Given the description of an element on the screen output the (x, y) to click on. 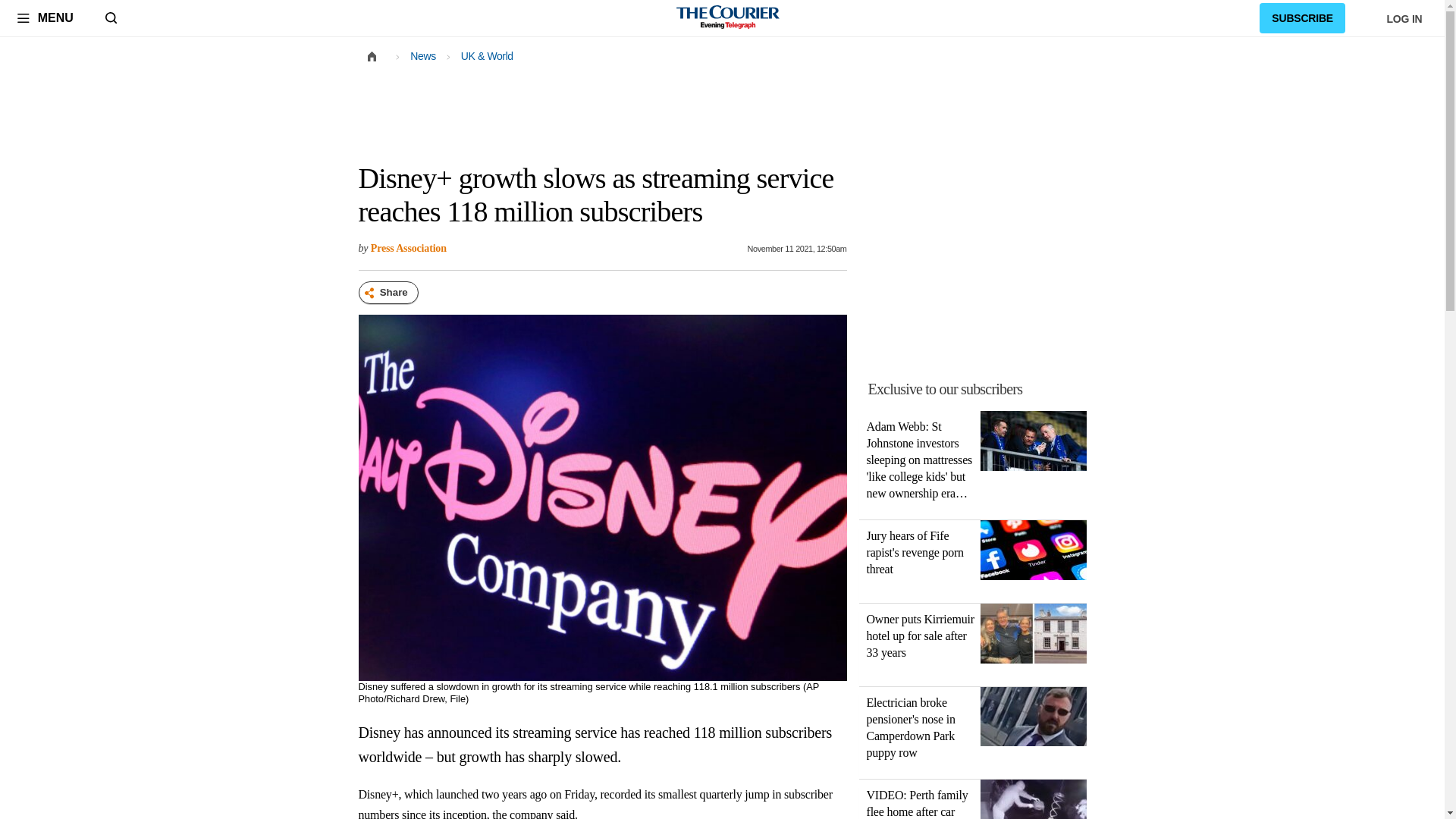
Exclusive to our subscribers (981, 388)
Jury hears of Fife rapist's revenge porn threat (1032, 553)
VIDEO: Perth family flee home after car torched in driveway (1032, 799)
Jury hears of Fife rapist's revenge porn threat (914, 552)
Exclusive to our subscribers (944, 389)
